Given the description of an element on the screen output the (x, y) to click on. 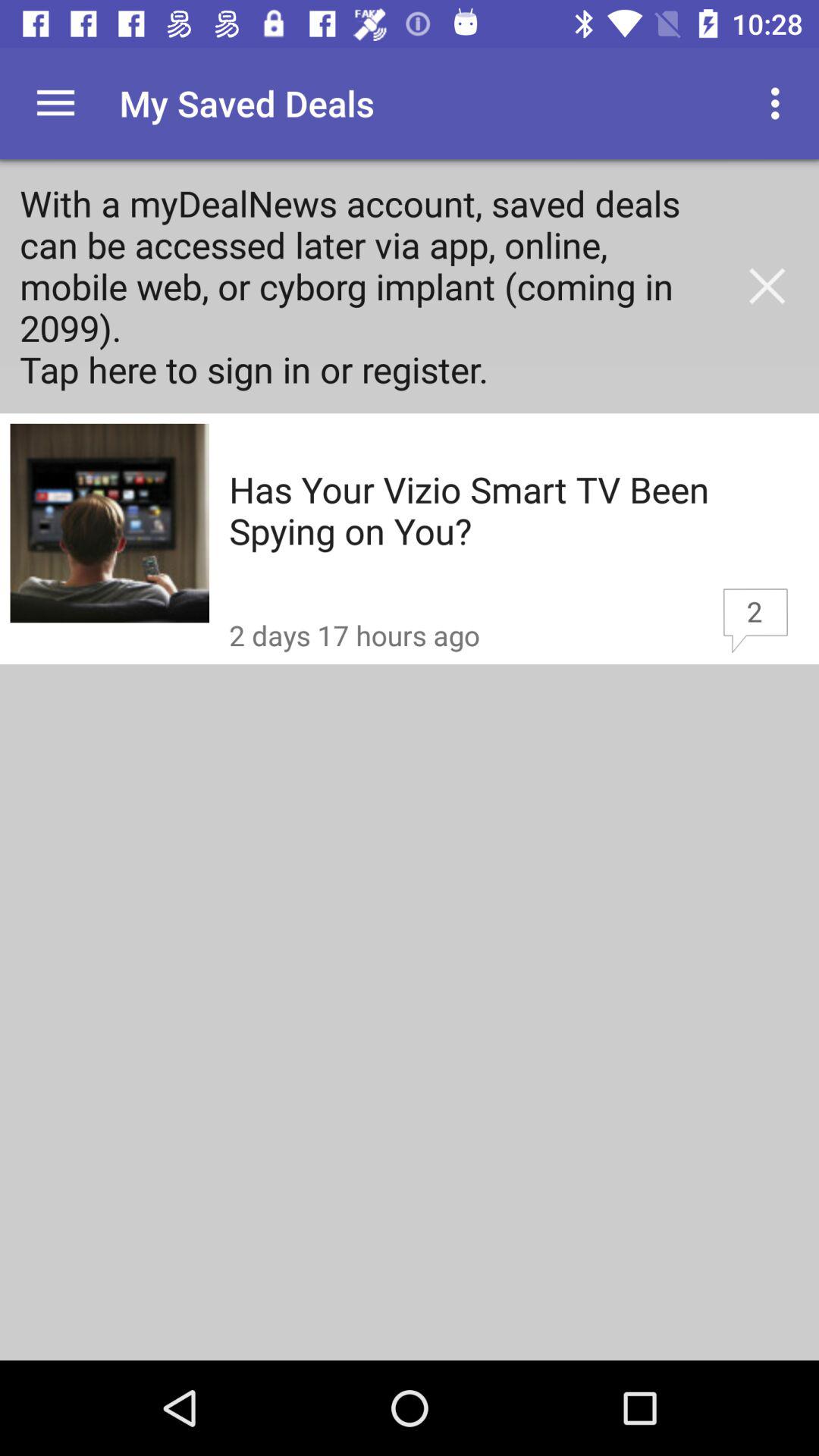
tap the item above with a mydealnews (55, 103)
